Given the description of an element on the screen output the (x, y) to click on. 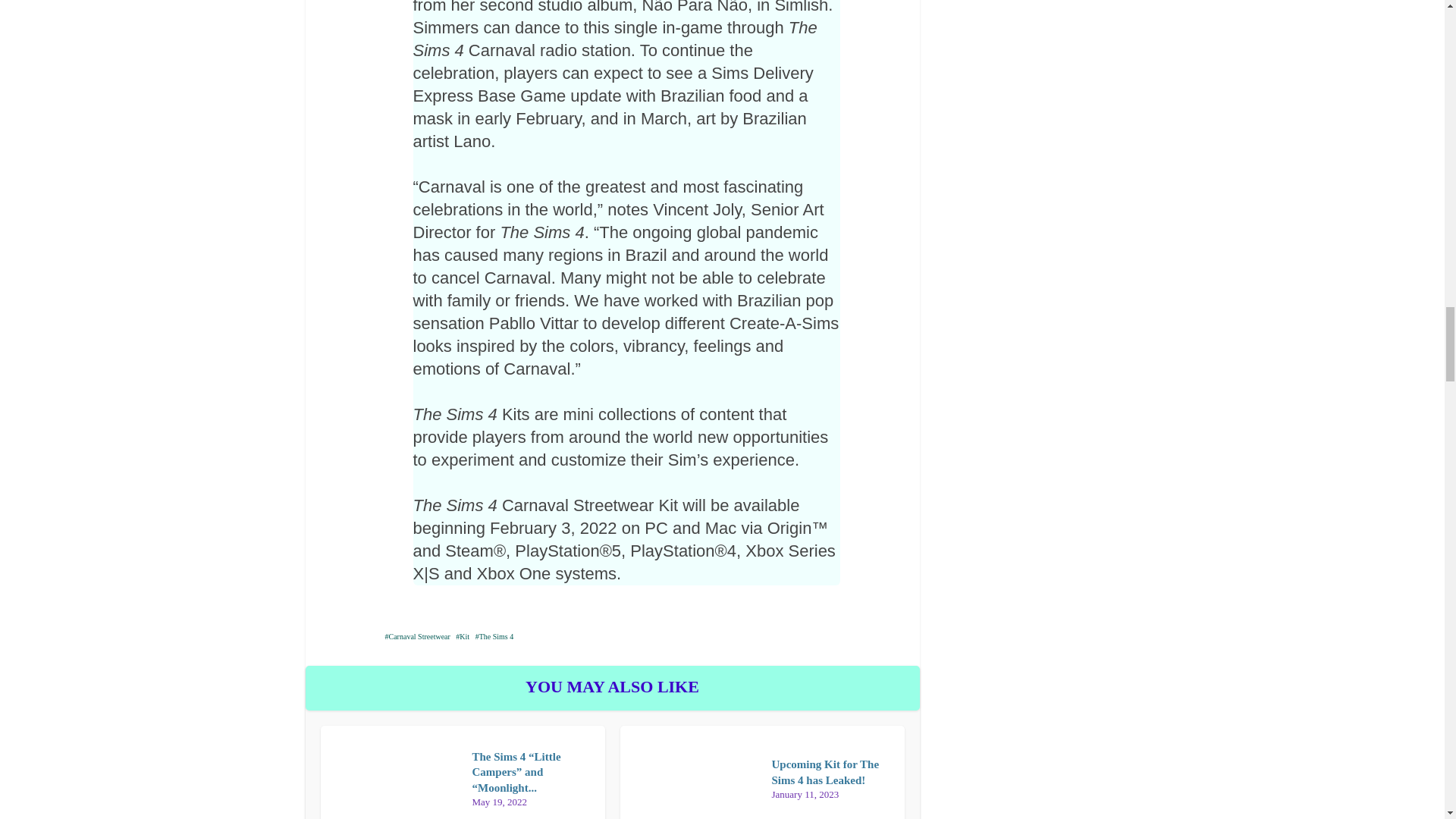
End of content (612, 754)
Upcoming Kit for The Sims 4 has Leaked! (825, 771)
Upcoming Kit for The Sims 4 has Leaked! 6 (611, 742)
